Given the description of an element on the screen output the (x, y) to click on. 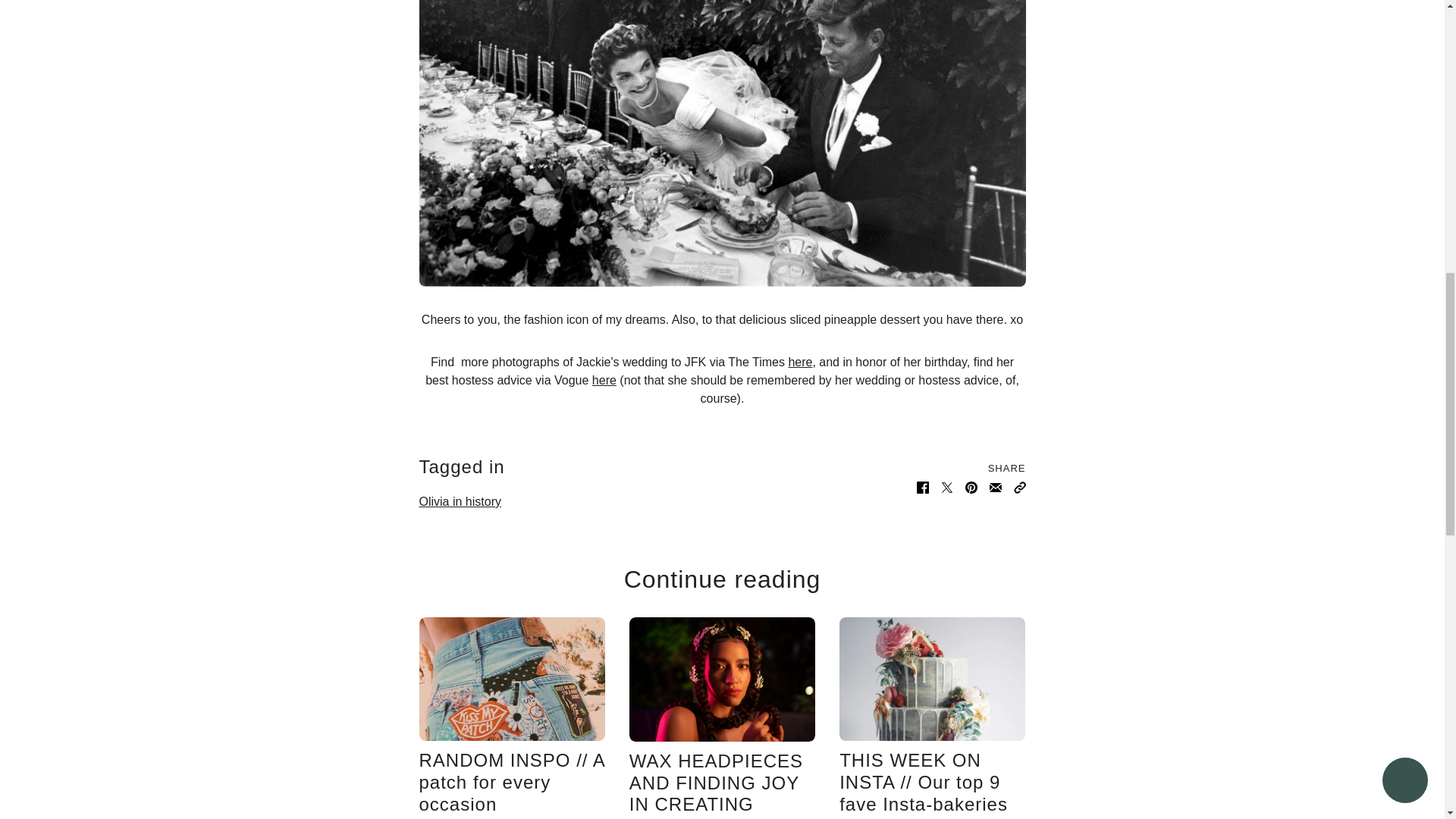
here (799, 361)
WAX HEADPIECES AND FINDING JOY IN CREATING THROUGH HERITAGE (715, 785)
Olivia in history (459, 502)
here (603, 379)
